Given the description of an element on the screen output the (x, y) to click on. 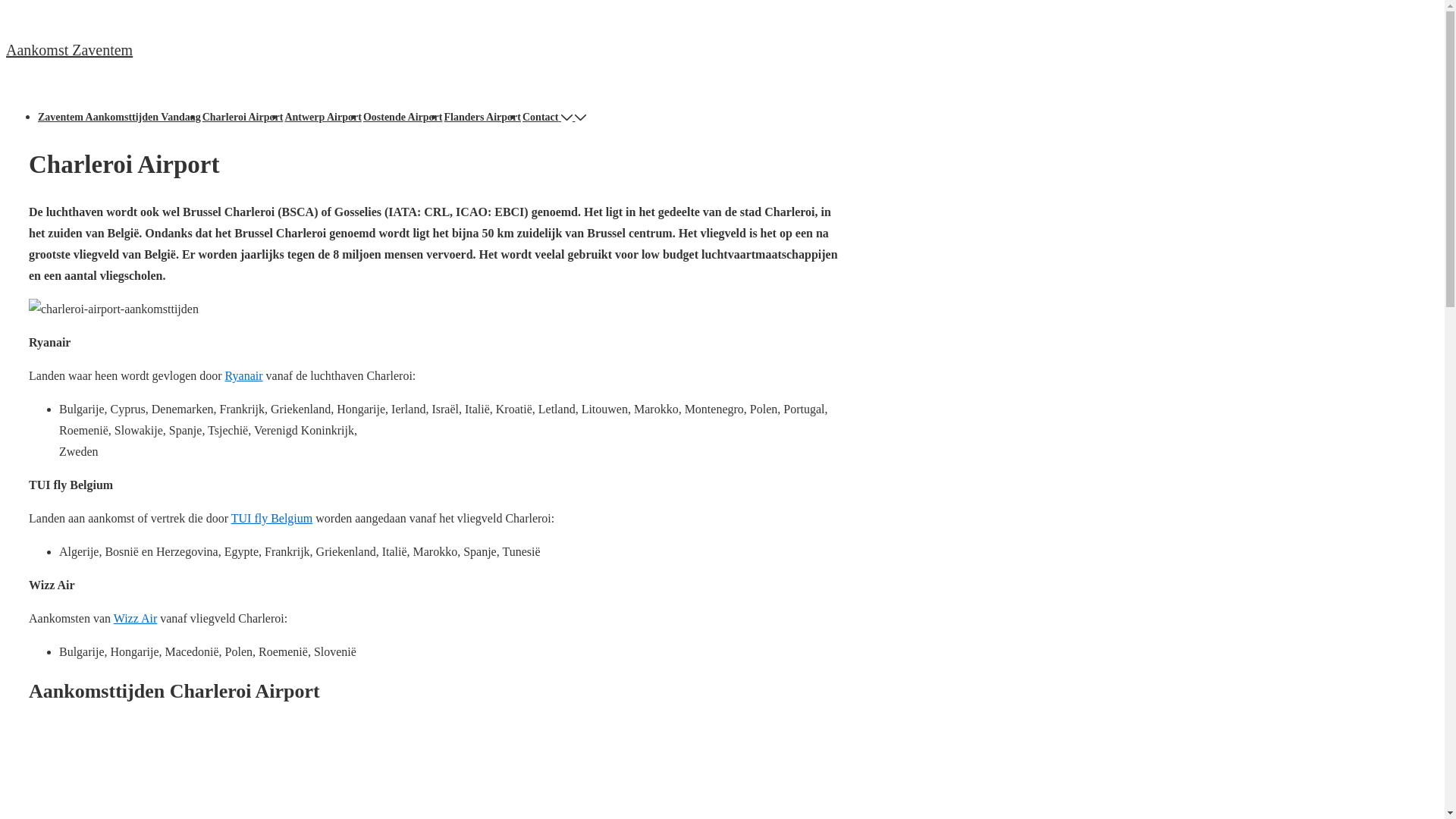
Contact Element type: text (548, 116)
Ryanair Element type: text (244, 375)
Charleroi Airport Element type: text (242, 116)
Antwerp Airport Element type: text (322, 116)
Aankomst Zaventem Element type: text (69, 49)
Oostende Airport Element type: text (402, 116)
TUI fly Belgium Element type: text (272, 517)
Flanders Airport Element type: text (481, 116)
Zaventem Aankomsttijden Vandaag Element type: text (118, 116)
Wizz Air Element type: text (135, 617)
